Given the description of an element on the screen output the (x, y) to click on. 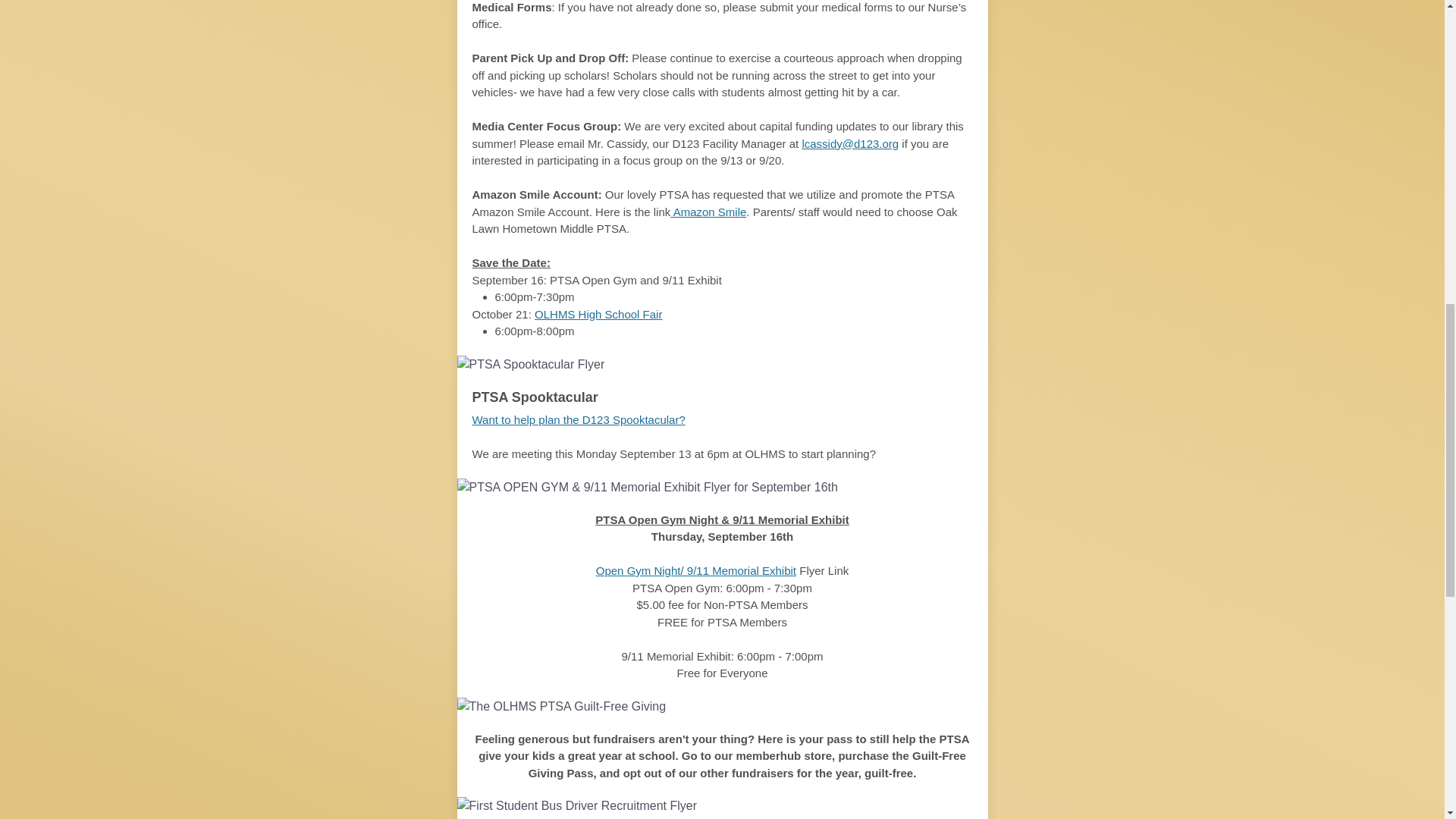
OLHMS High School Fair (598, 314)
The OLHMS PTSA Guilt-Free Giving  (722, 706)
Want to help plan the D123 Spooktacular? (577, 419)
Amazon Smile (707, 210)
First Student Bus Driver Recruitment Flyer  (722, 805)
PTSA Spooktacular Flyer  (722, 363)
